Given the description of an element on the screen output the (x, y) to click on. 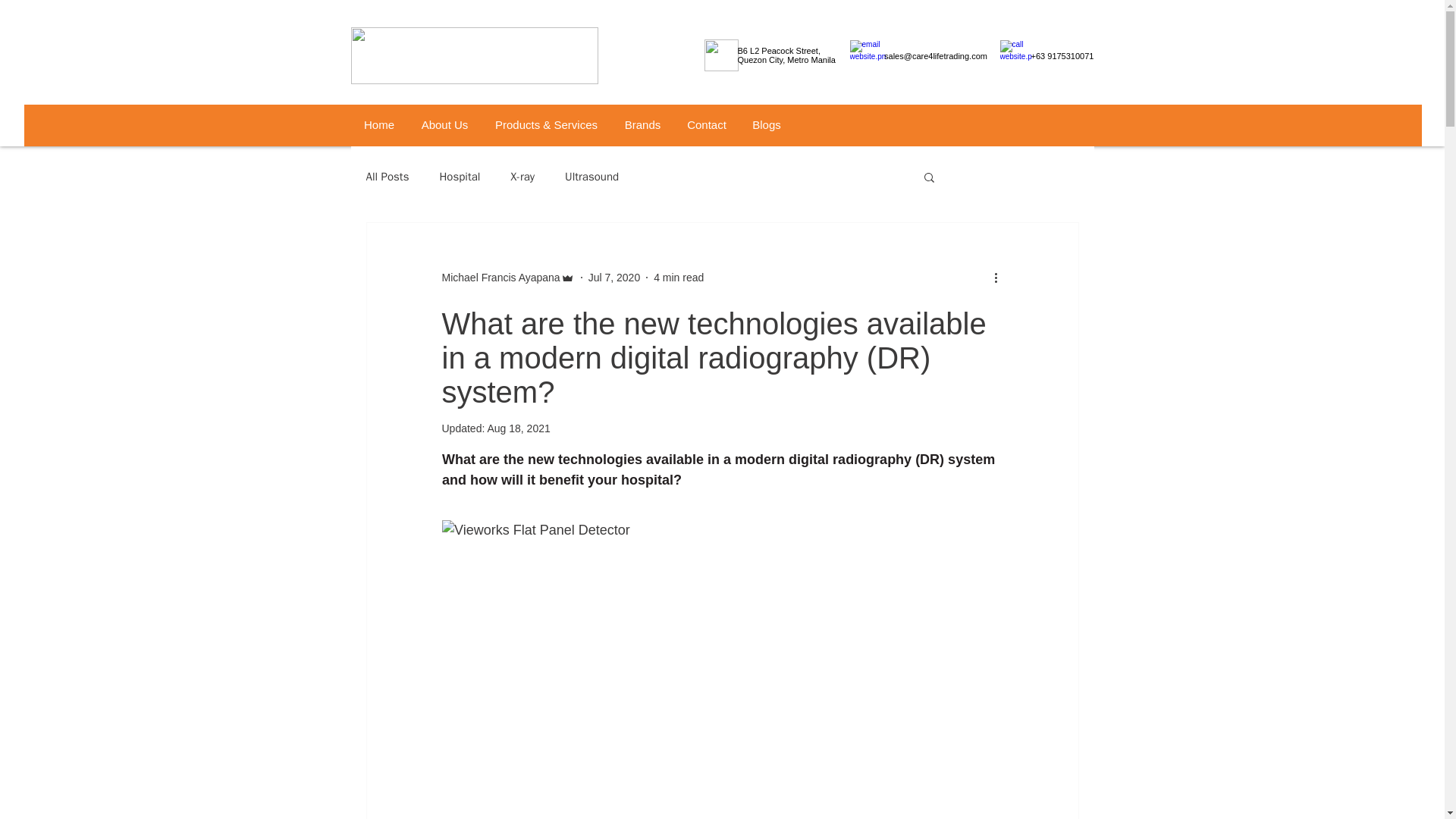
pin website.png (866, 56)
Blogs (765, 125)
Michael Francis Ayapana (500, 277)
Aug 18, 2021 (518, 428)
Brands (642, 125)
All Posts (387, 176)
pin website.png (720, 55)
Hospital (459, 176)
4 min read (678, 277)
Jul 7, 2020 (614, 277)
